Given the description of an element on the screen output the (x, y) to click on. 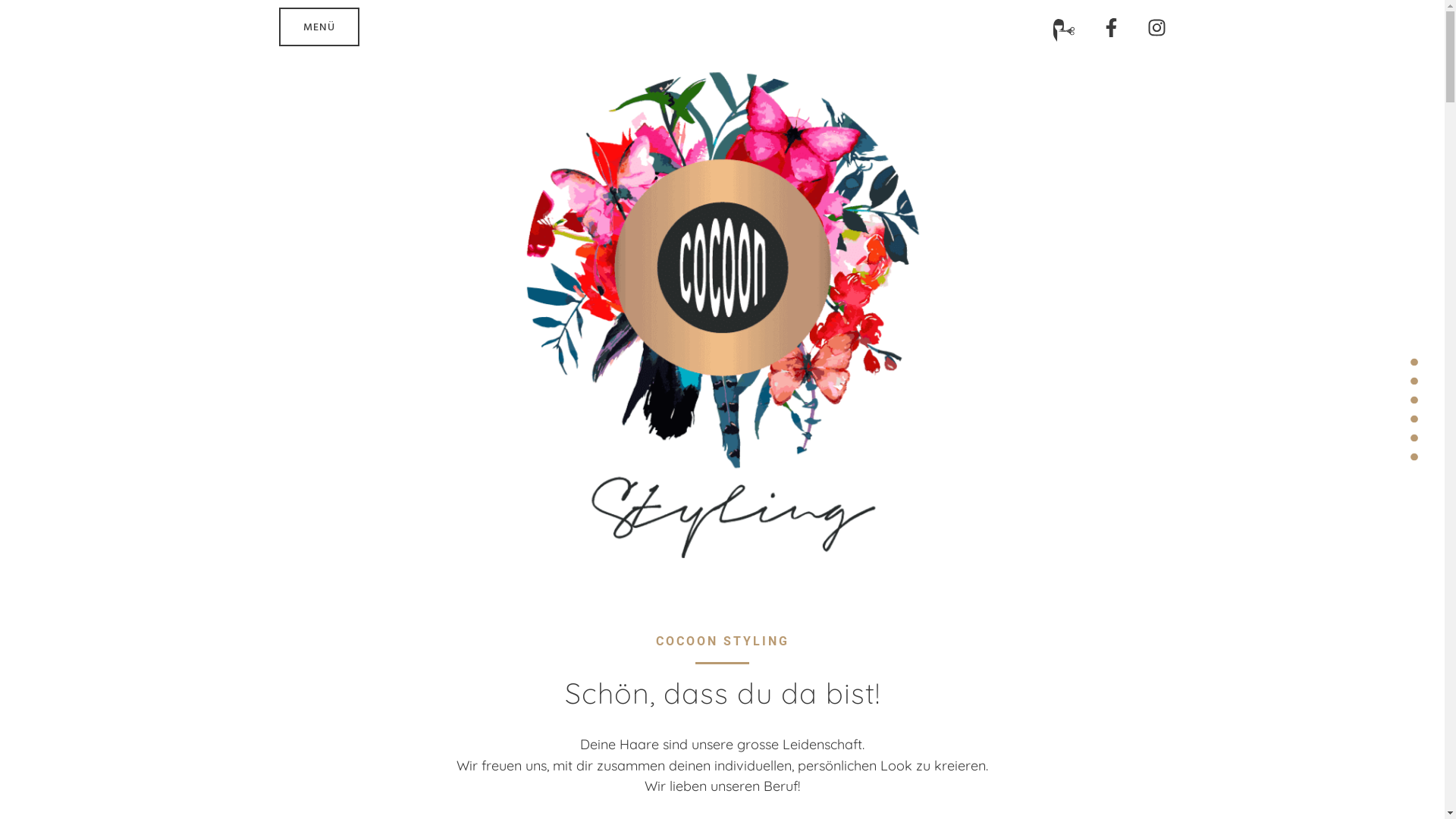
Instagram Element type: text (1155, 27)
Facebook-f Element type: text (1110, 27)
